Given the description of an element on the screen output the (x, y) to click on. 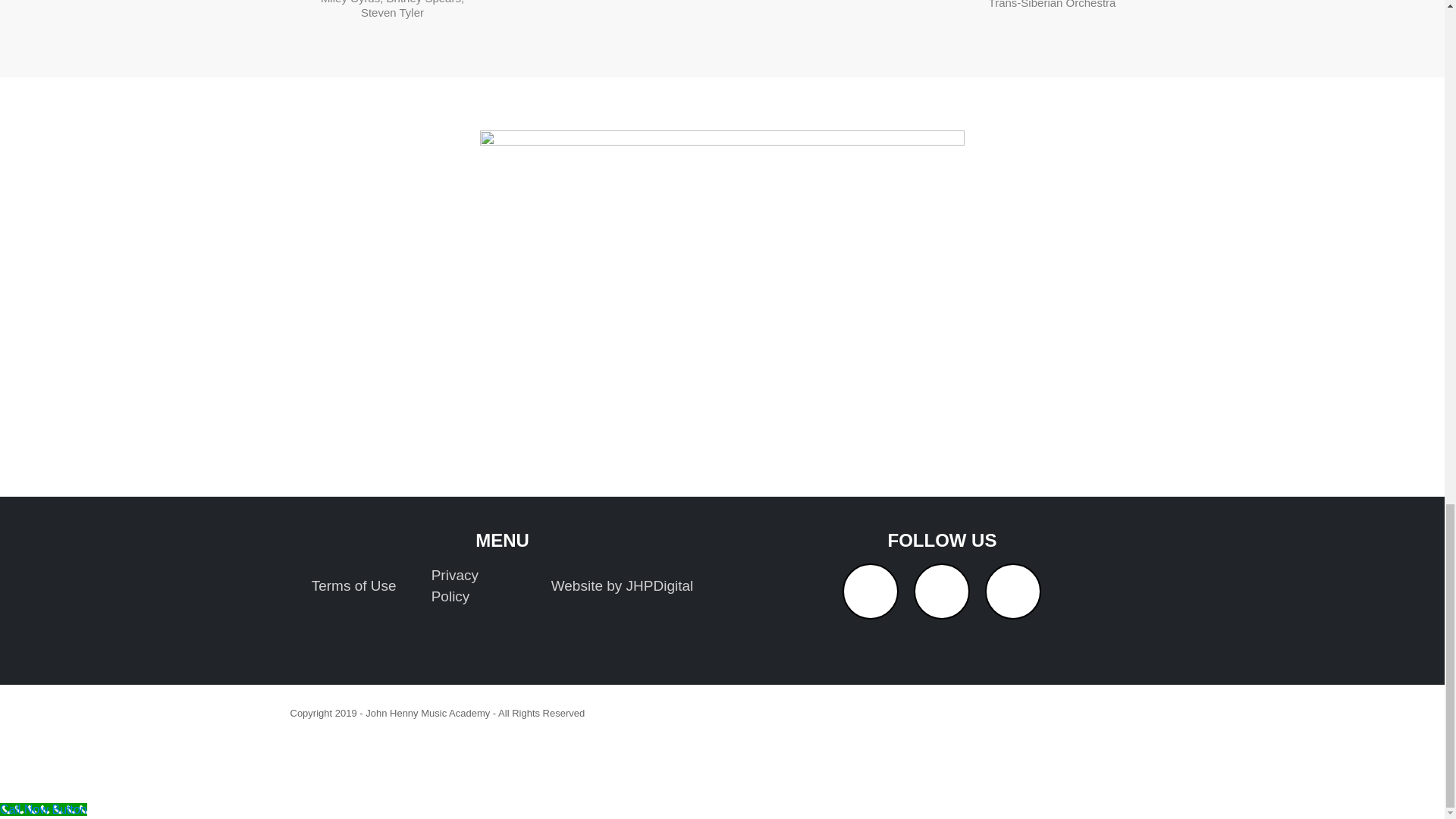
Privacy Policy (473, 586)
Call Now Button (43, 809)
Terms of Use (353, 586)
Website by JHPDigital (622, 586)
